Given the description of an element on the screen output the (x, y) to click on. 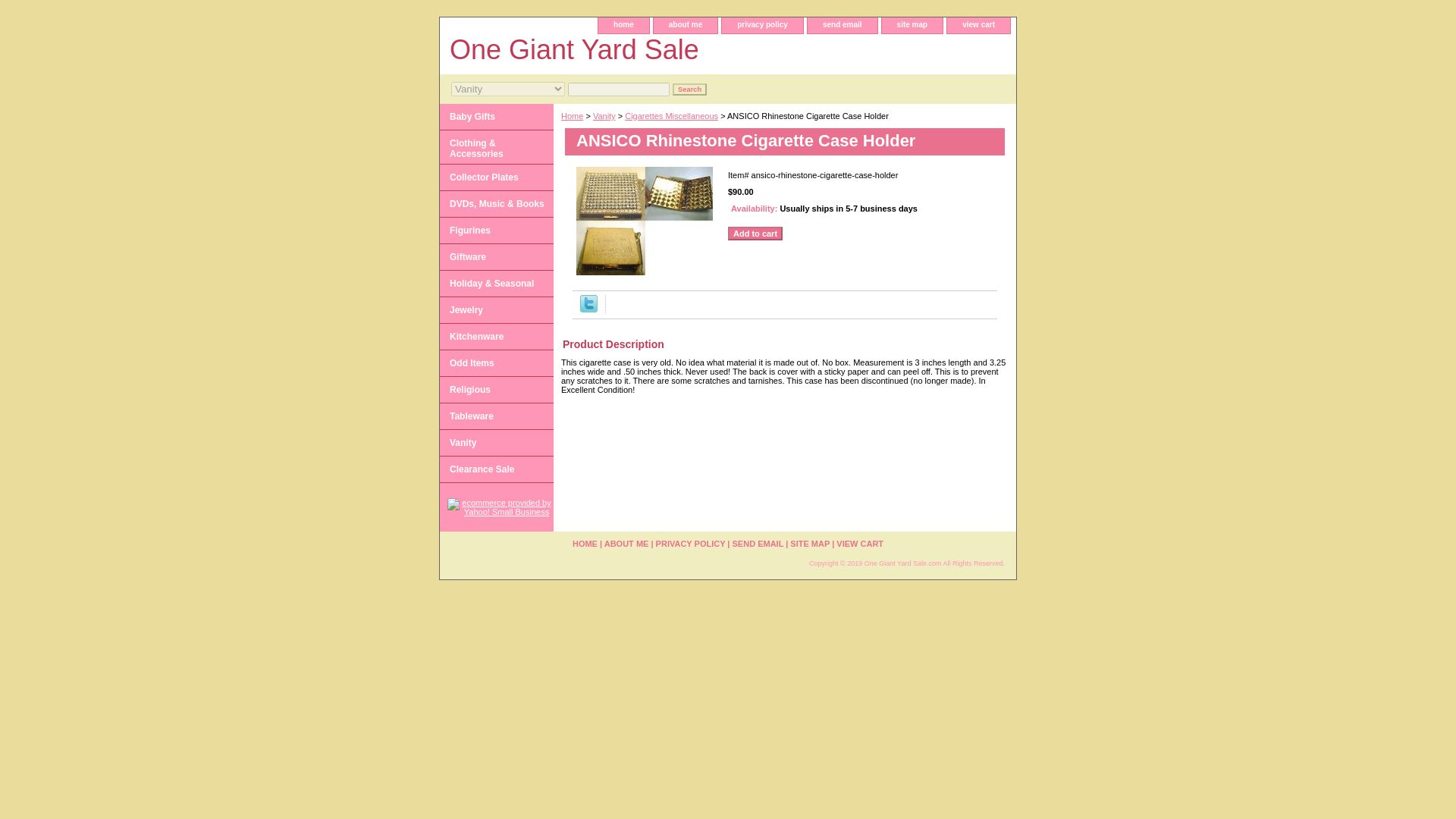
Odd Items (496, 363)
Baby Gifts (496, 117)
Search (689, 89)
Add to cart (755, 233)
privacy policy (762, 25)
view cart (978, 25)
Odd Items (496, 363)
Religious (496, 389)
Jewelry (496, 310)
One Giant Yard Sale (628, 51)
Giftware (496, 257)
ABOUT ME (626, 542)
Vanity (603, 115)
home (623, 25)
Religious (496, 389)
